Given the description of an element on the screen output the (x, y) to click on. 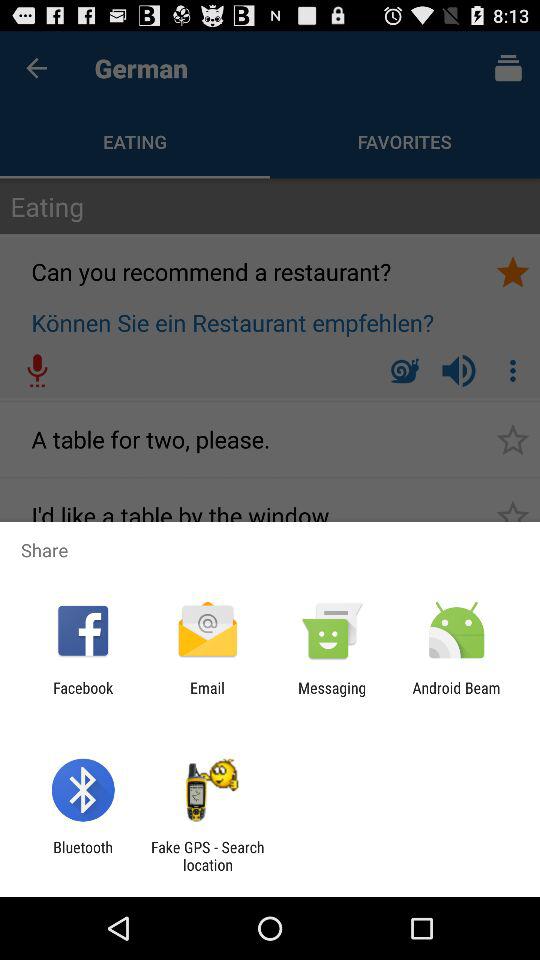
tap icon to the right of the email item (332, 696)
